Given the description of an element on the screen output the (x, y) to click on. 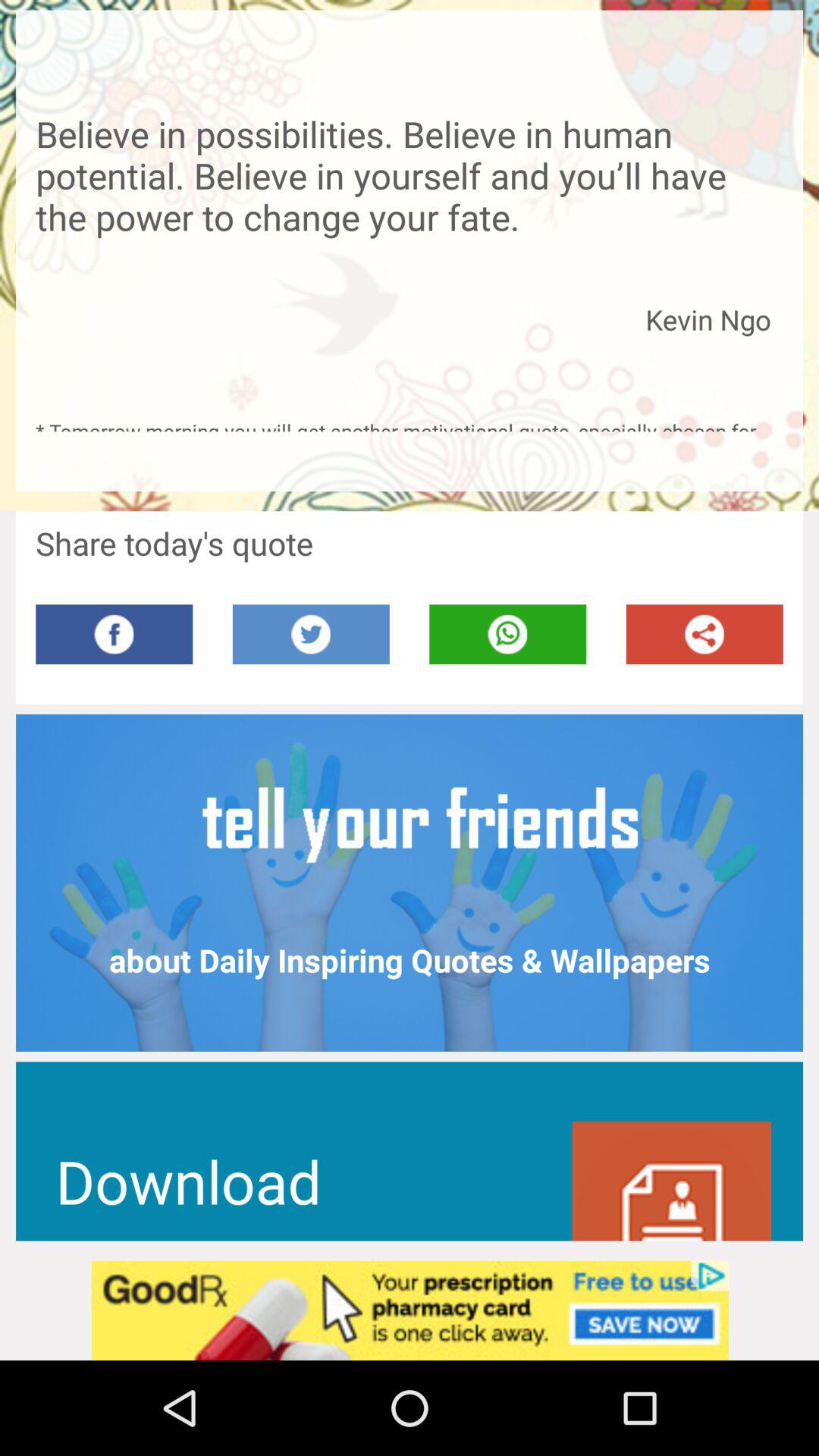
more share options (704, 634)
